Given the description of an element on the screen output the (x, y) to click on. 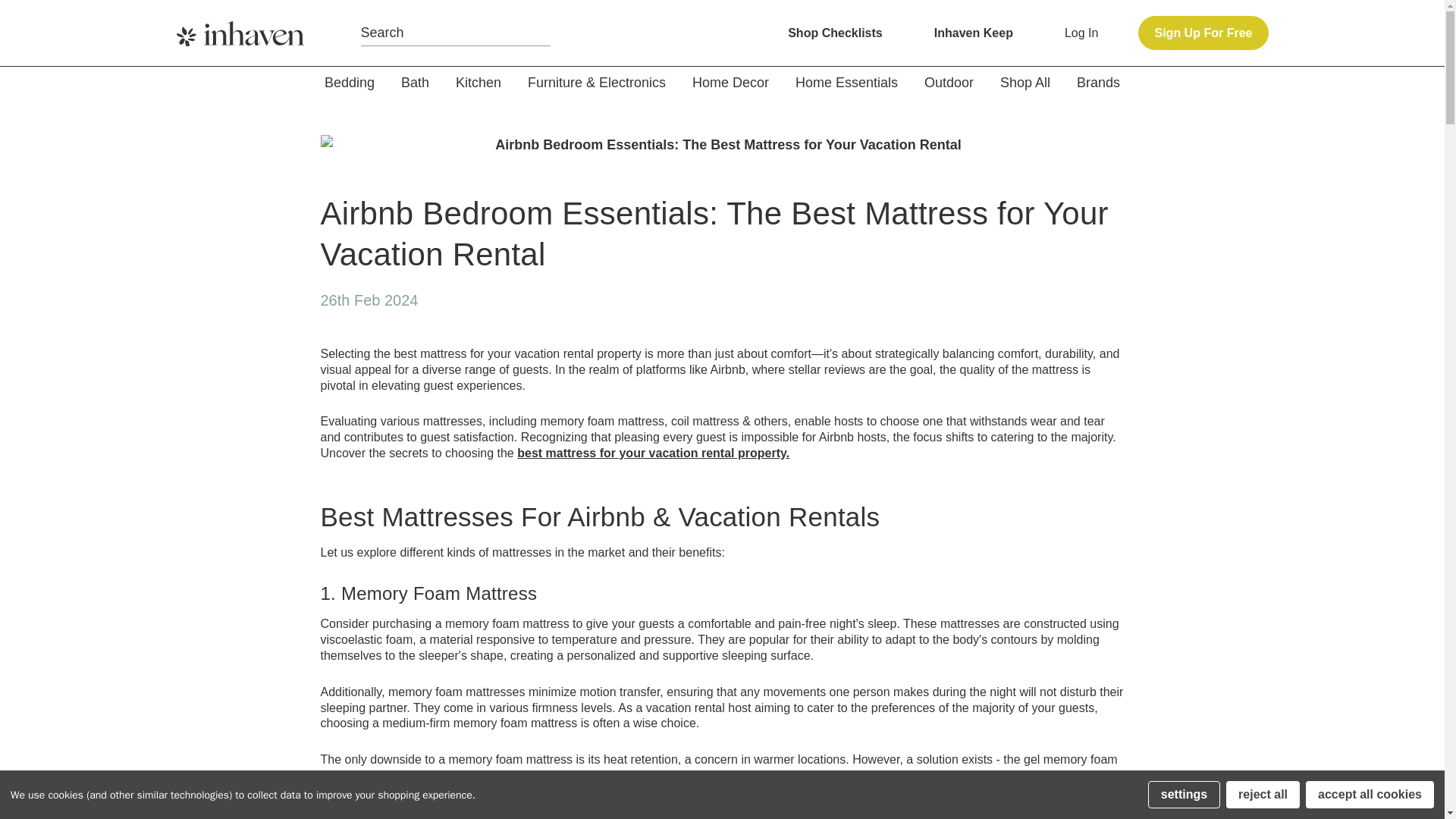
Email (991, 298)
Pinterest (1101, 298)
Facebook (953, 298)
Sign Up For Free (1203, 32)
Shop Checklists (834, 32)
Twitter (1064, 298)
Inhaven Keep (973, 32)
Log In (1081, 32)
Print (1026, 298)
